Given the description of an element on the screen output the (x, y) to click on. 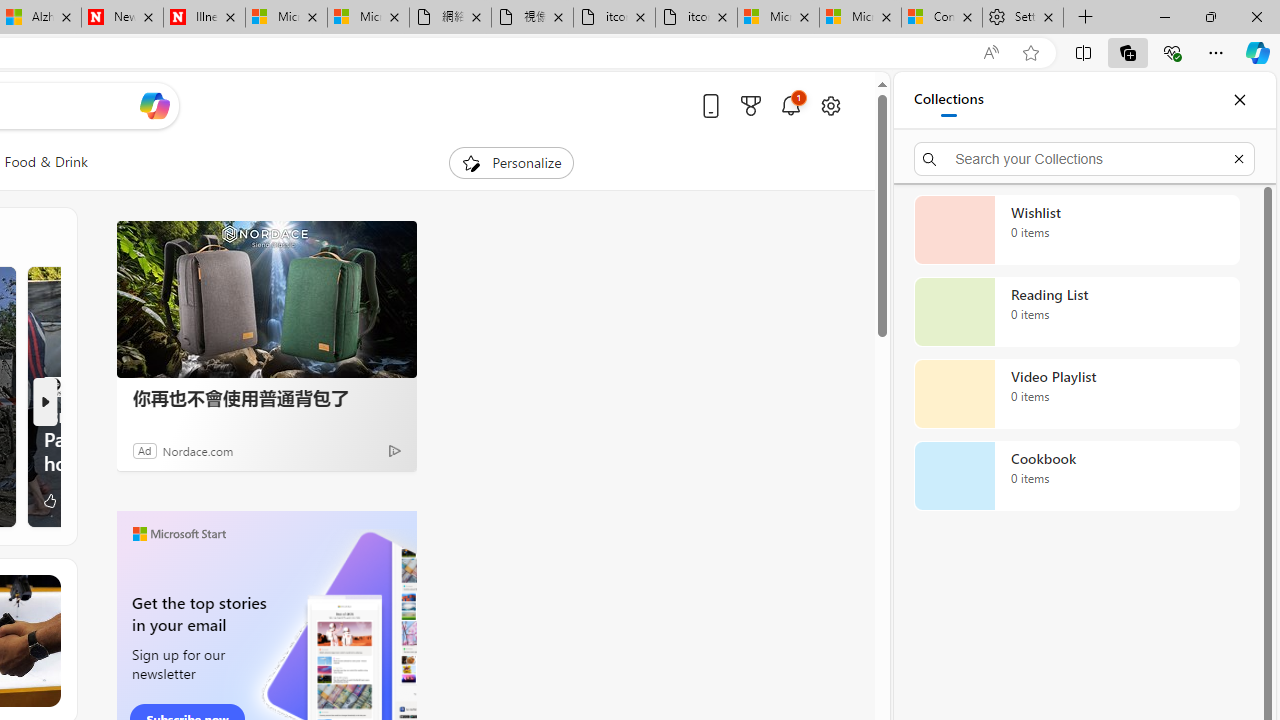
Wishlist collection, 0 items (1076, 229)
Personalize (511, 162)
Food & Drink (45, 162)
itconcepthk.com/projector_solutions.mp4 (696, 17)
Exit search (1238, 158)
Illness news & latest pictures from Newsweek.com (203, 17)
